Given the description of an element on the screen output the (x, y) to click on. 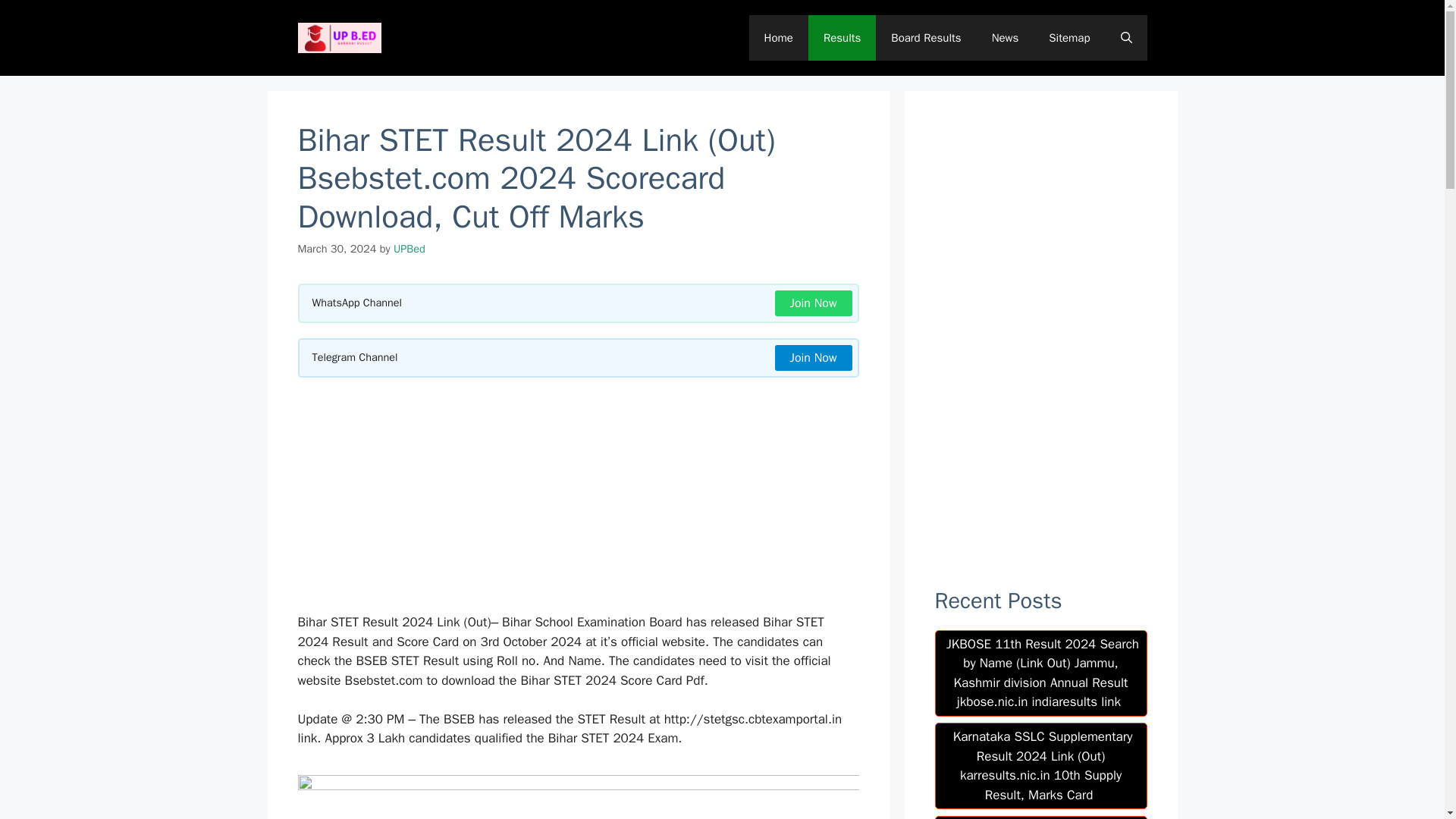
Results (842, 37)
News (1004, 37)
Join Now (812, 357)
Advertisement (578, 499)
Sitemap (1069, 37)
Home (778, 37)
UPBed (409, 248)
Join Now (812, 303)
View all posts by UPBed (409, 248)
Board Results (925, 37)
